Given the description of an element on the screen output the (x, y) to click on. 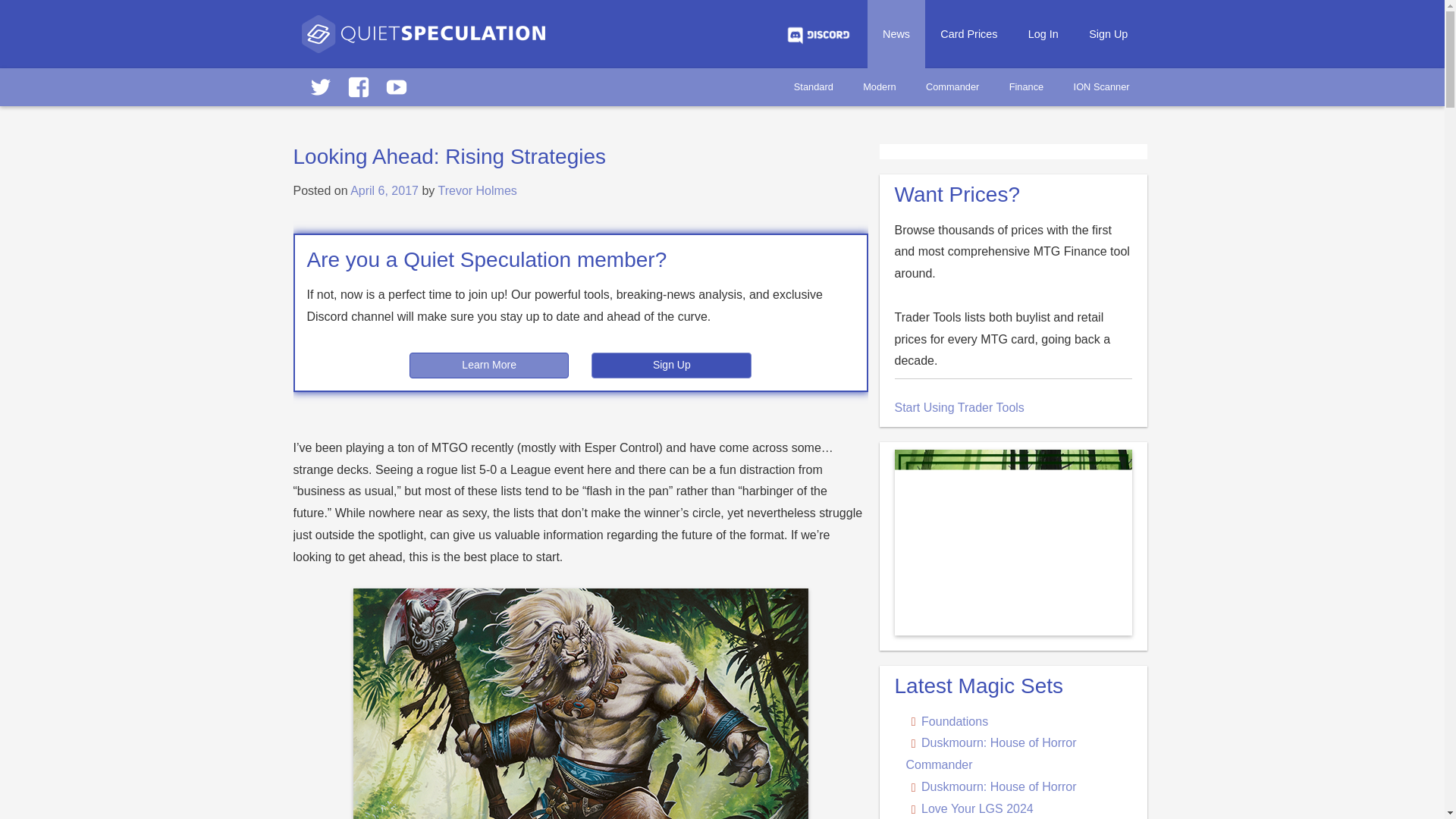
ION Scanner (1100, 86)
Homepage (422, 41)
Sign Up (671, 365)
Sign Up (1108, 33)
Commander (952, 86)
Log In (1043, 33)
Modern (878, 86)
Finance (1026, 86)
Card Prices (967, 33)
Learn More (489, 365)
